Given the description of an element on the screen output the (x, y) to click on. 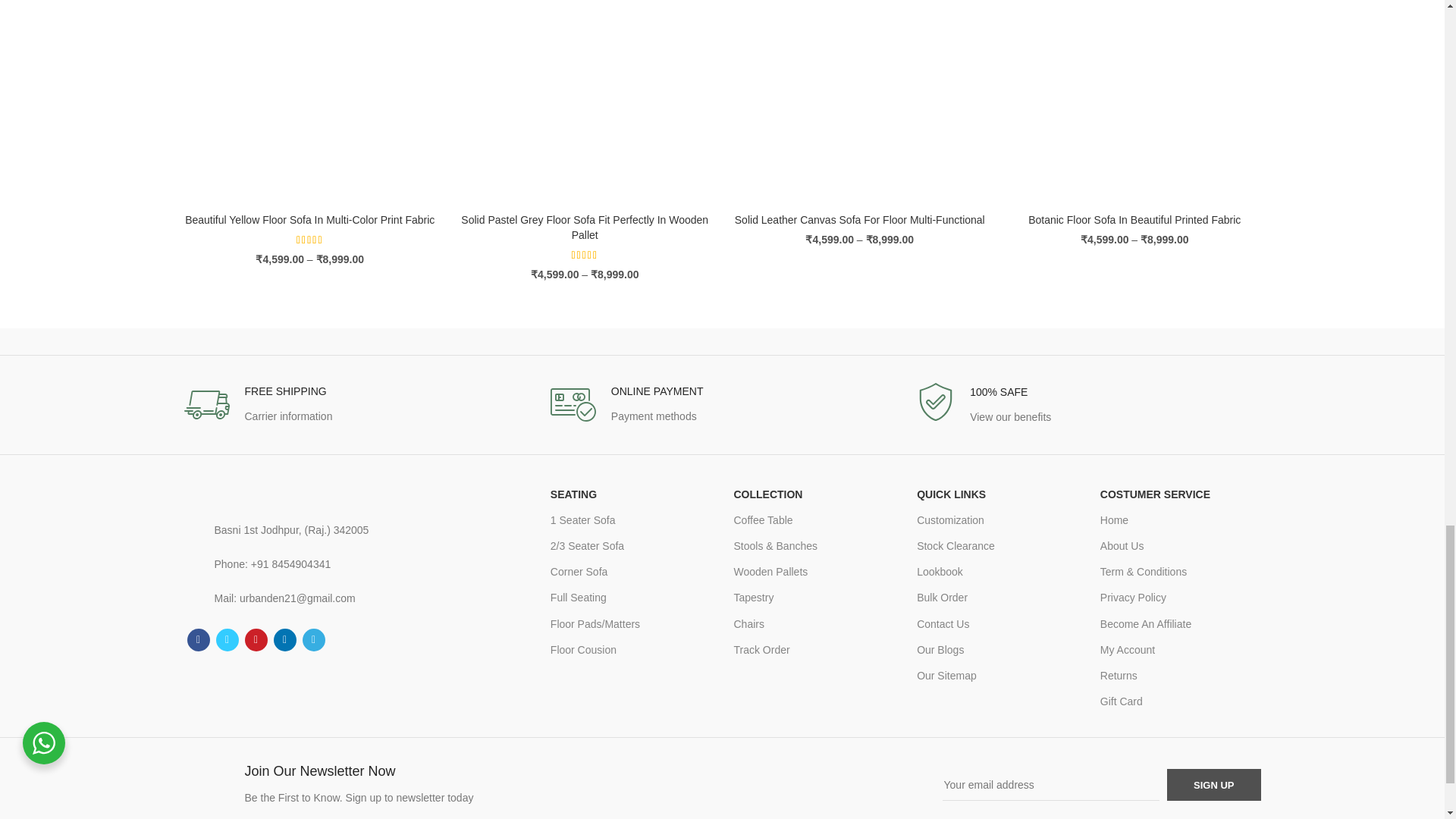
Sign up (1213, 784)
